Given the description of an element on the screen output the (x, y) to click on. 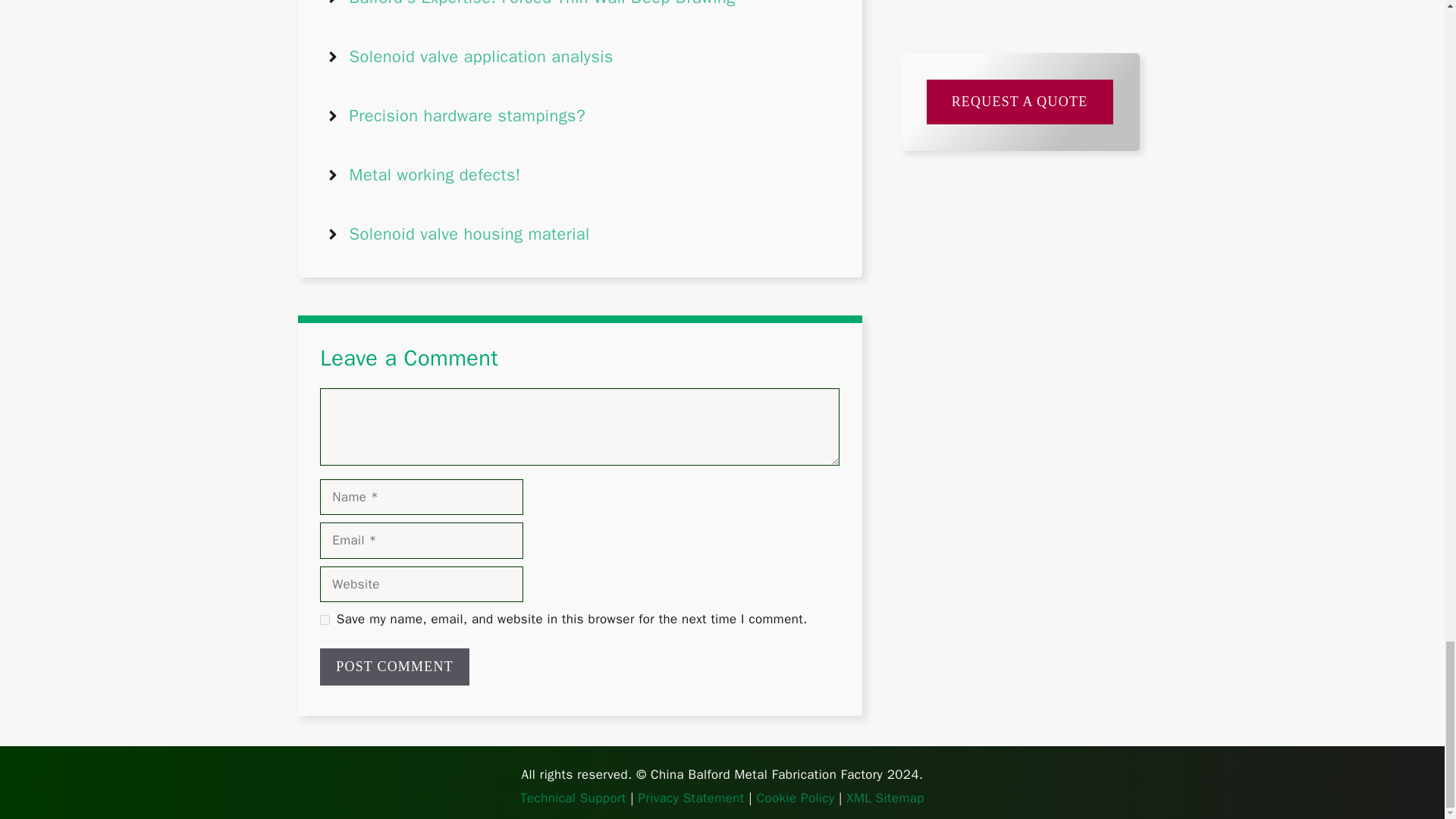
Solenoid valve housing material (469, 233)
Post Comment (394, 666)
Precision hardware stampings? (467, 115)
Post Comment (394, 666)
yes (325, 619)
Metal working defects! (434, 174)
Solenoid valve application analysis (480, 56)
